Given the description of an element on the screen output the (x, y) to click on. 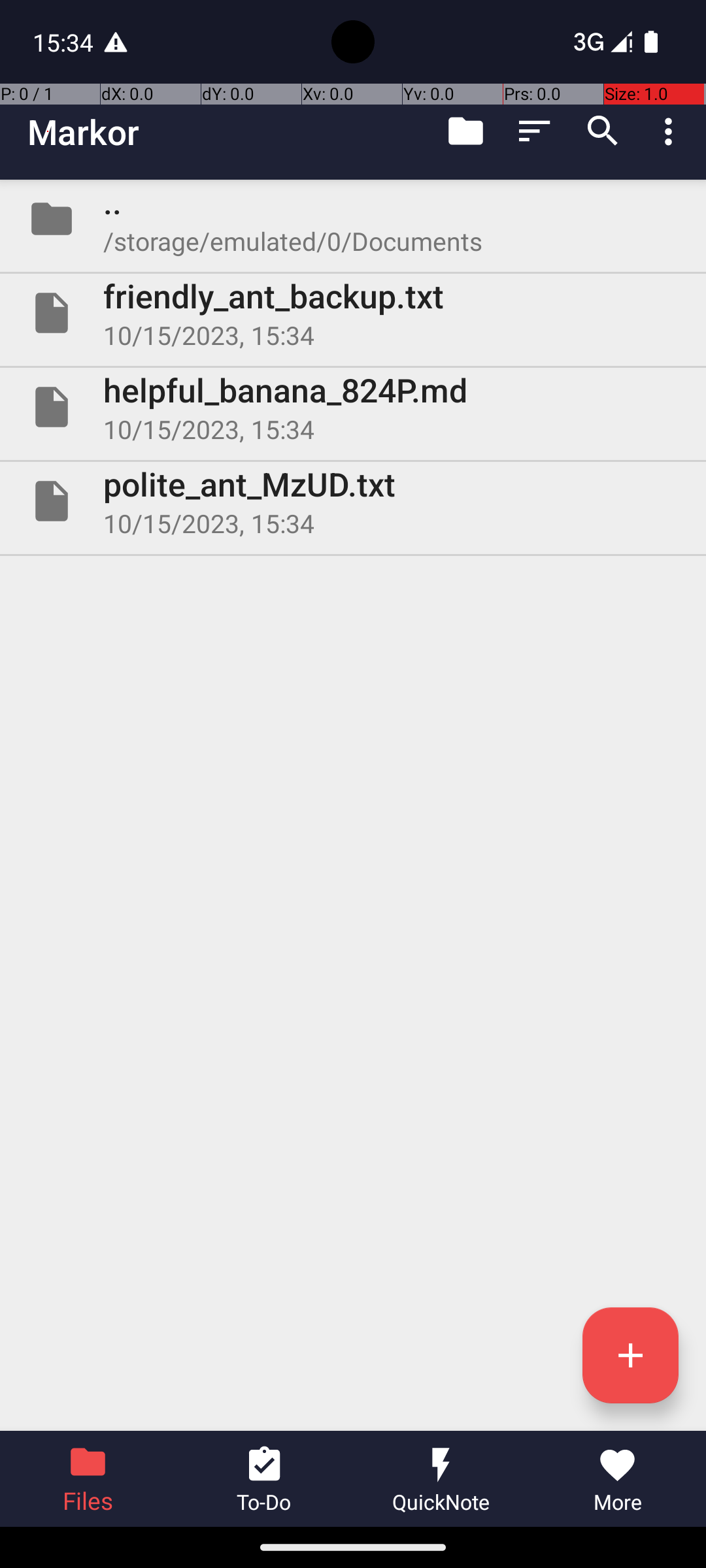
File friendly_ant_backup.txt  Element type: android.widget.LinearLayout (353, 312)
File helpful_banana_824P.md  Element type: android.widget.LinearLayout (353, 406)
File polite_ant_MzUD.txt  Element type: android.widget.LinearLayout (353, 500)
